Given the description of an element on the screen output the (x, y) to click on. 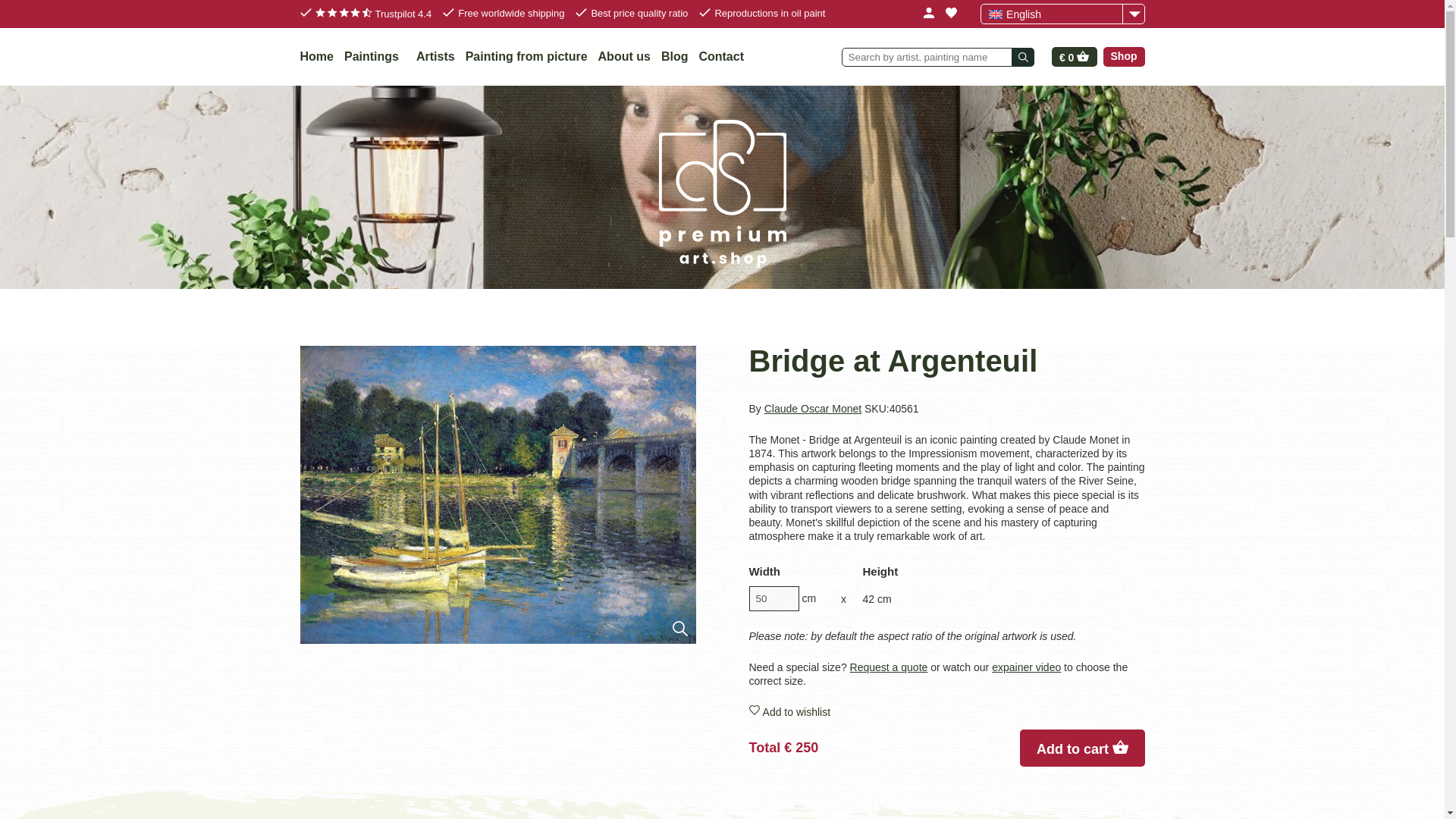
Paintings (374, 56)
Shop (1123, 56)
Add to cart (1082, 748)
English (1061, 14)
Contact (721, 56)
About us (624, 56)
Add to wishlist (946, 712)
Claude Oscar Monet (812, 408)
Request a quote (889, 666)
Blog (674, 56)
Add to wishlist (946, 712)
expainer video (1026, 666)
Artists (435, 56)
Trustpilot 4.4 (373, 14)
Home (316, 56)
